Given the description of an element on the screen output the (x, y) to click on. 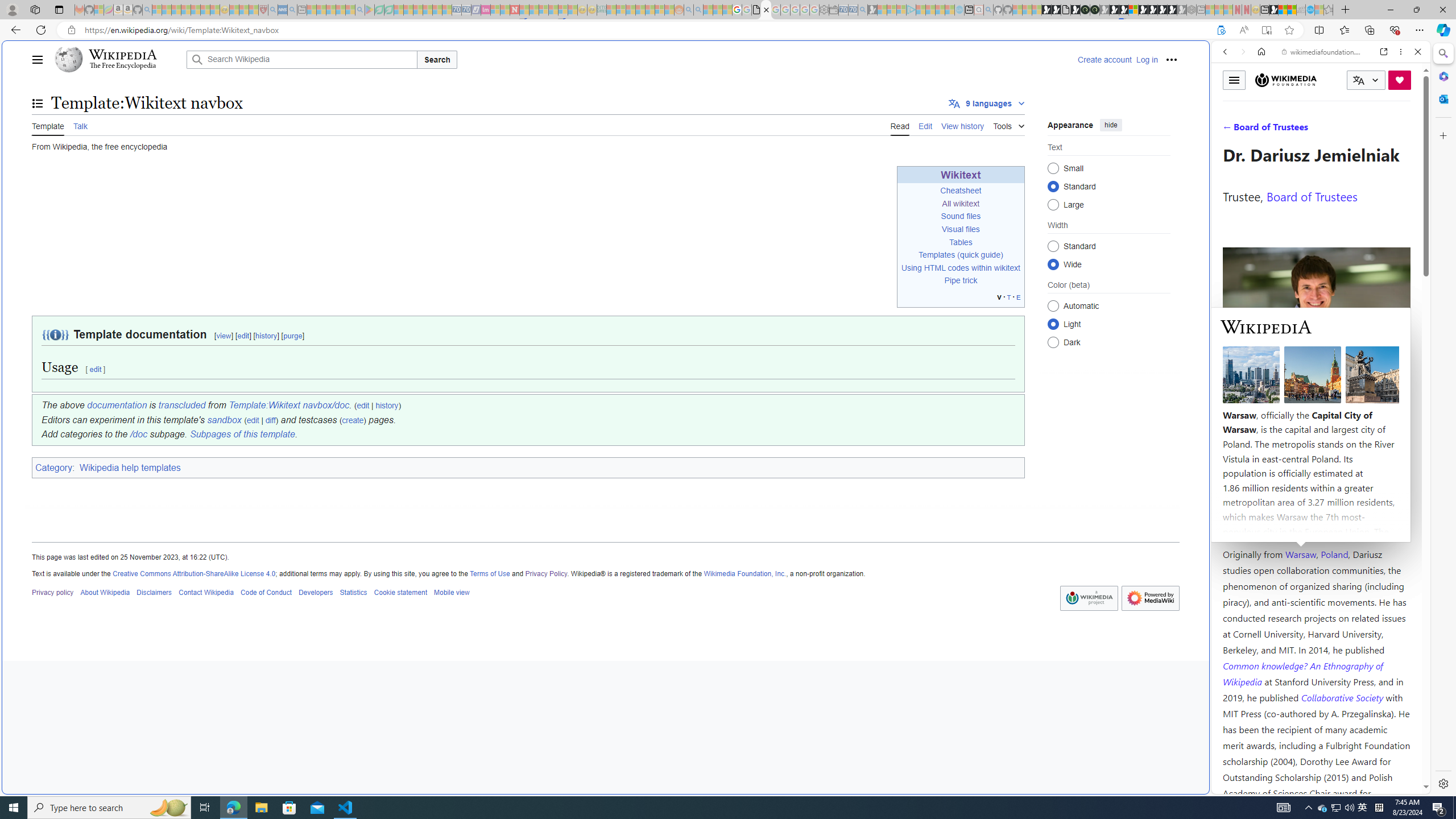
Board of Trustees (1311, 195)
The Free Encyclopedia (121, 65)
Privacy policy (53, 591)
Developers (315, 591)
Sound files (960, 215)
view (223, 335)
Harvard University (1259, 526)
Contact Wikipedia (206, 592)
View history (962, 124)
